Given the description of an element on the screen output the (x, y) to click on. 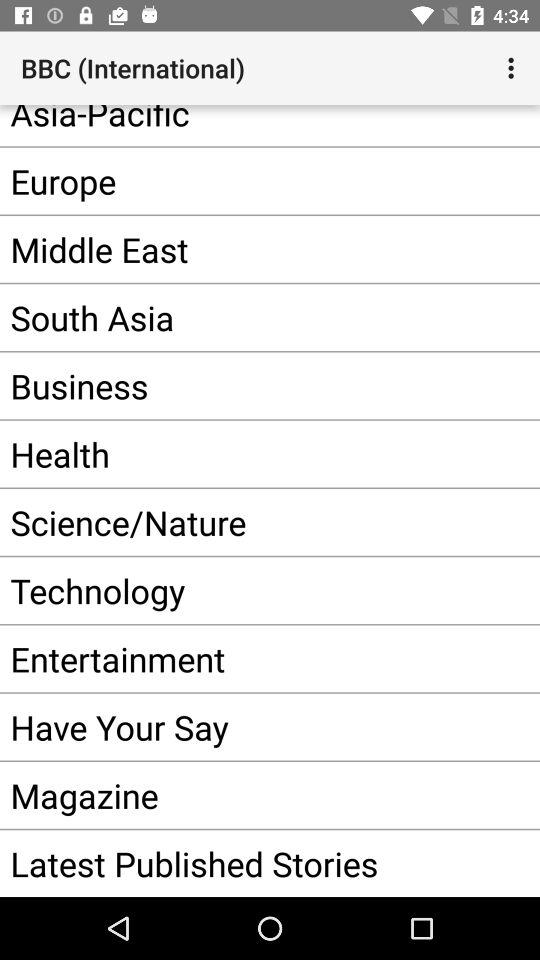
press app above the europe (240, 125)
